Given the description of an element on the screen output the (x, y) to click on. 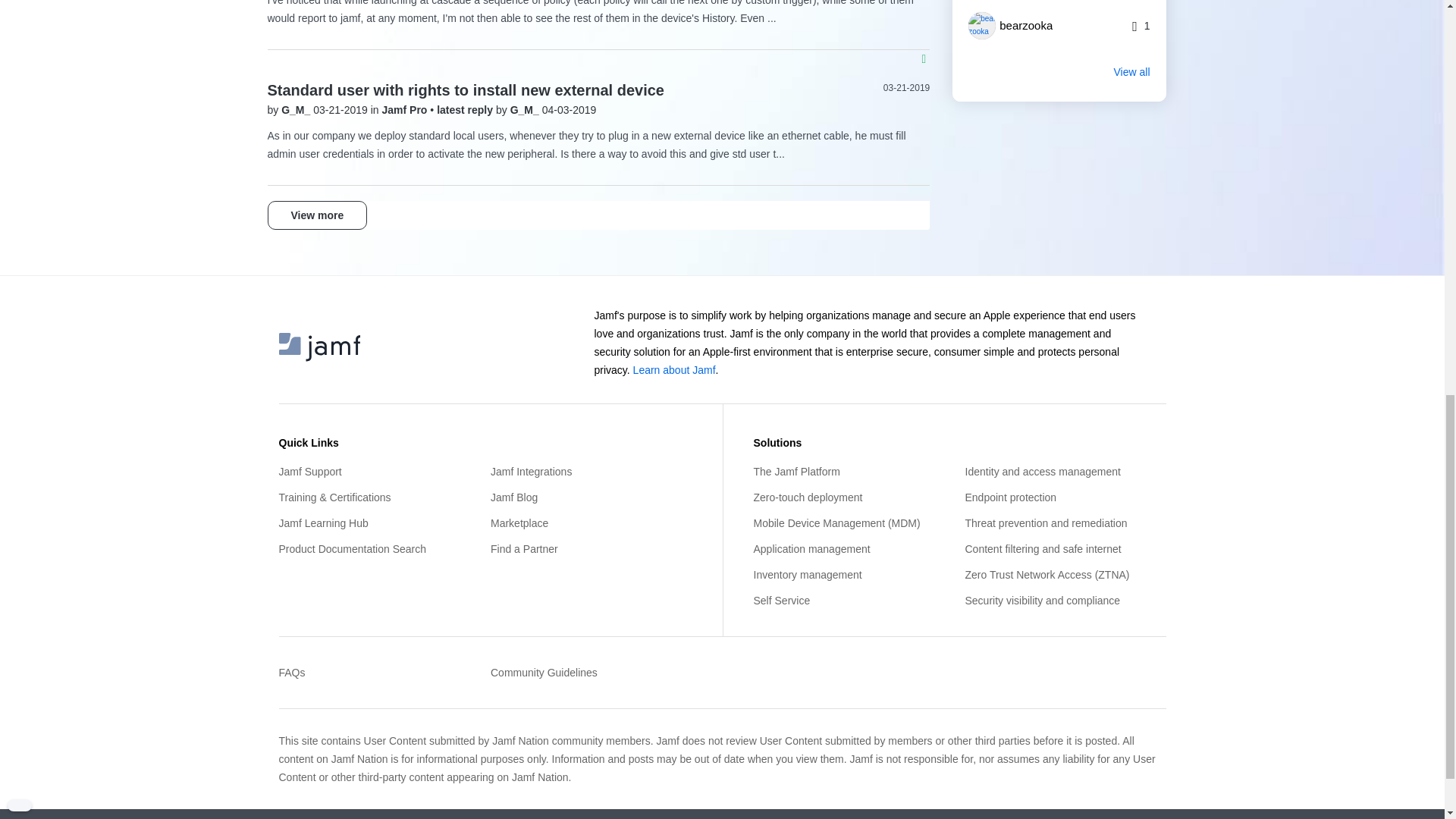
Standard user with rights to install new external device (464, 89)
03-21-2019 04:09 AM 03-21-2019 04:09 AM (906, 87)
Jamf Pro (405, 110)
View profile (526, 110)
latest reply (466, 110)
View more (316, 215)
View post (466, 110)
View profile (297, 110)
